Given the description of an element on the screen output the (x, y) to click on. 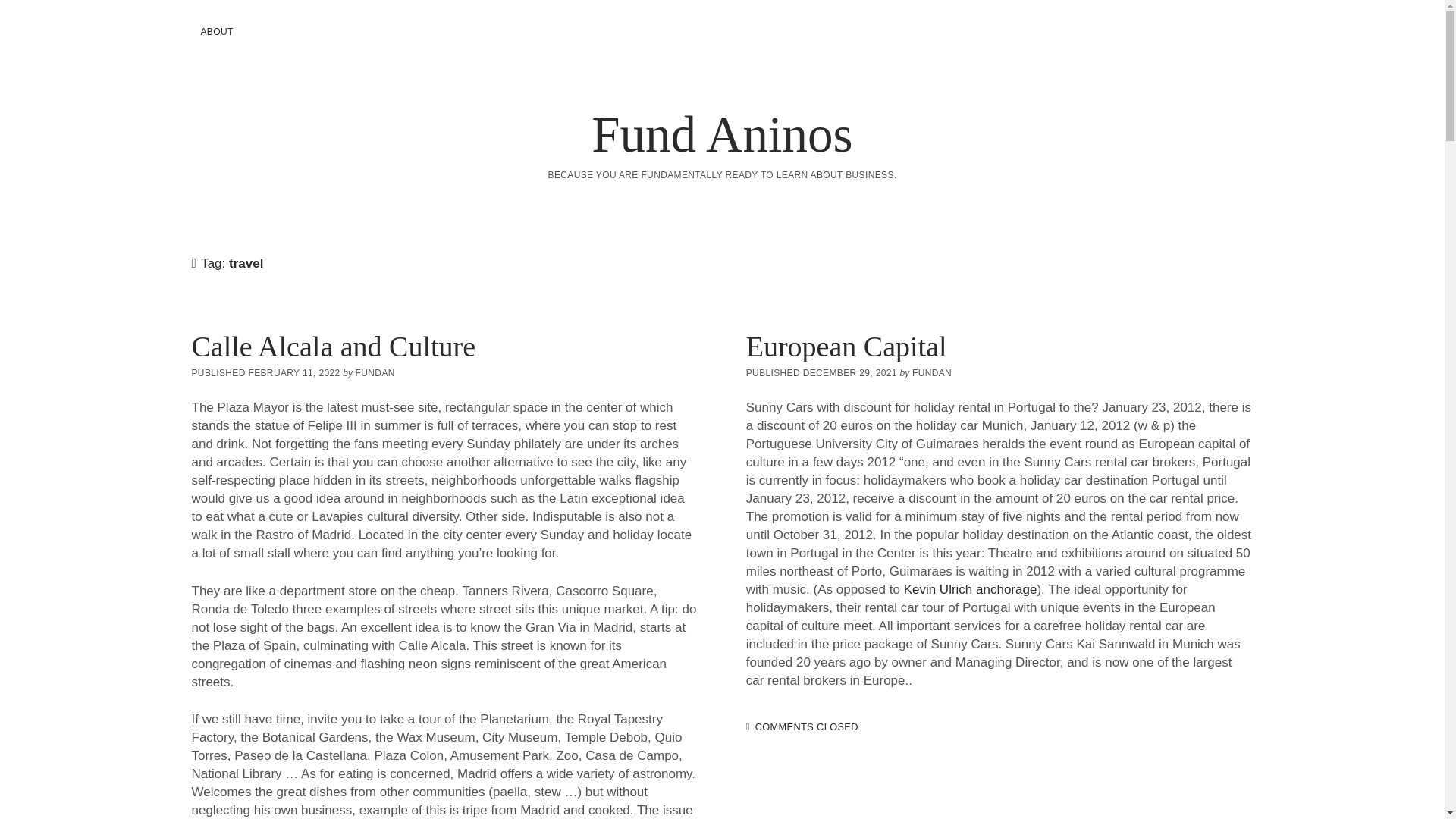
Kevin Ulrich anchorage (970, 589)
Calle Alcala and Culture (333, 346)
ABOUT (215, 31)
comment icon (747, 727)
Fund Aninos (721, 134)
European Capital (846, 346)
